Given the description of an element on the screen output the (x, y) to click on. 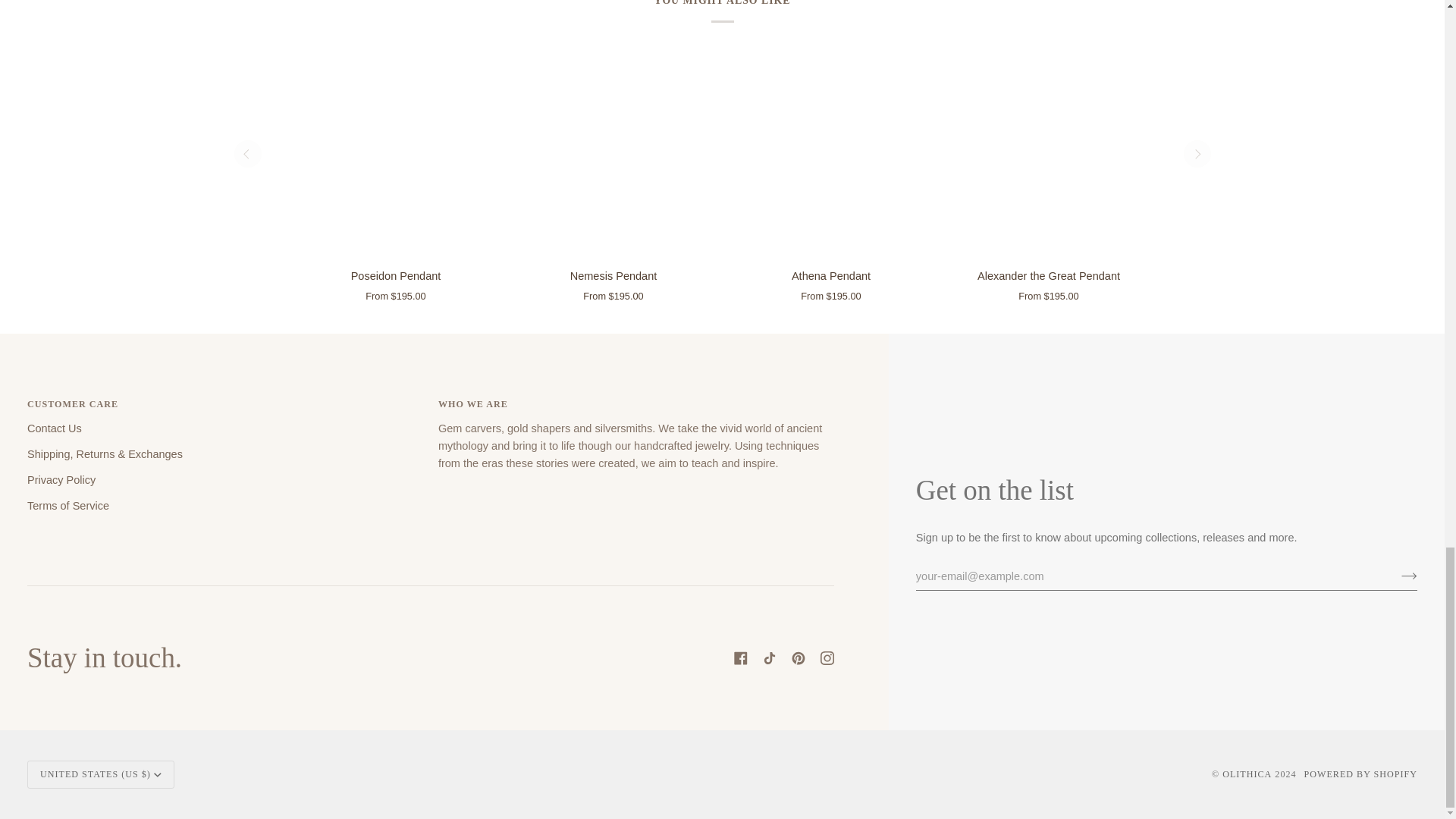
Instagram (827, 658)
Facebook (740, 658)
Tiktok (769, 658)
Pinterest (798, 658)
